Given the description of an element on the screen output the (x, y) to click on. 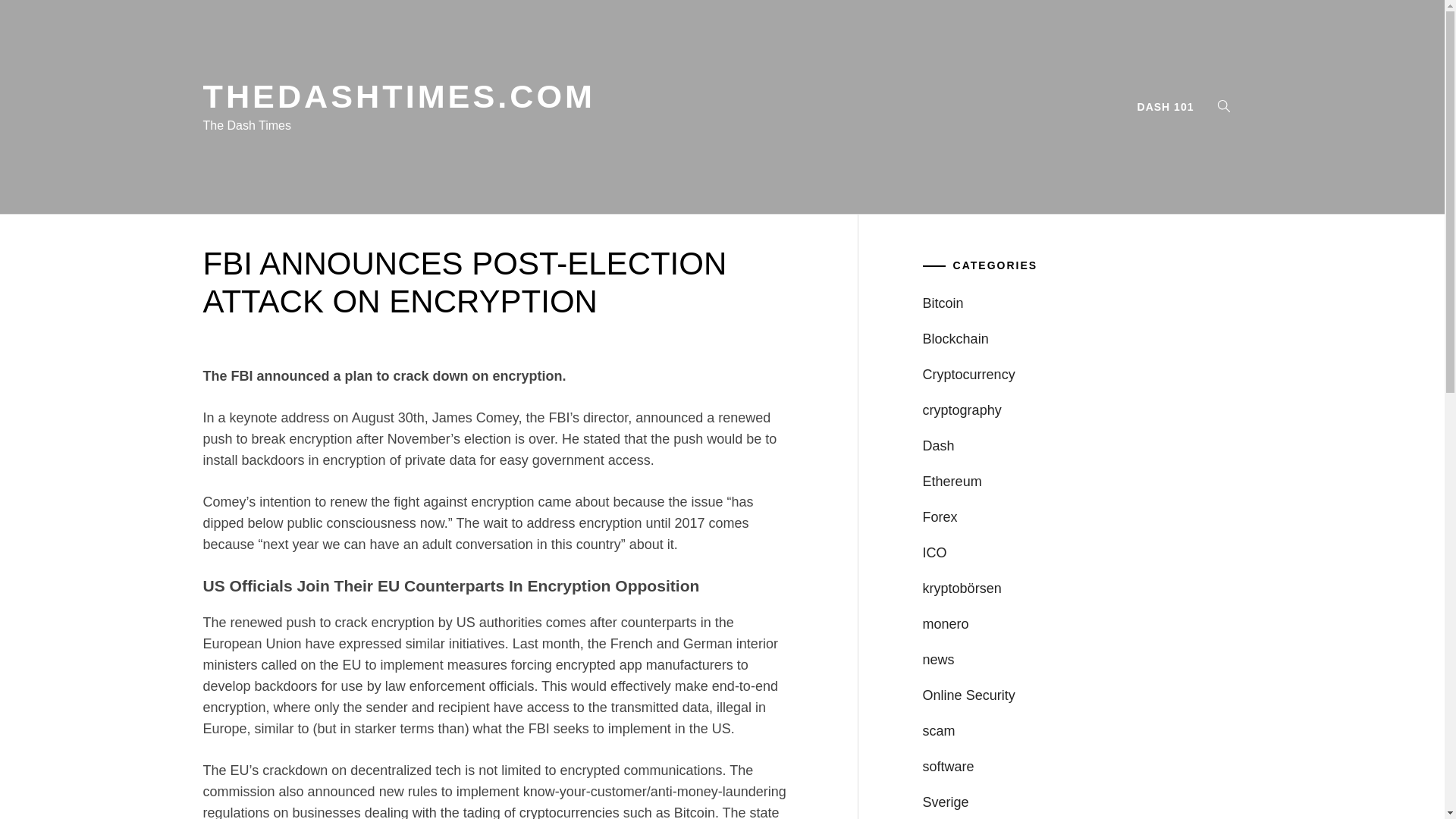
DASH 101 (1165, 106)
Bitcoin (943, 303)
Search (797, 409)
cryptography (962, 409)
Cryptocurrency (968, 374)
ICO (935, 552)
news (939, 659)
monero (946, 623)
Dash (939, 445)
THEDASHTIMES.COM (399, 95)
